Given the description of an element on the screen output the (x, y) to click on. 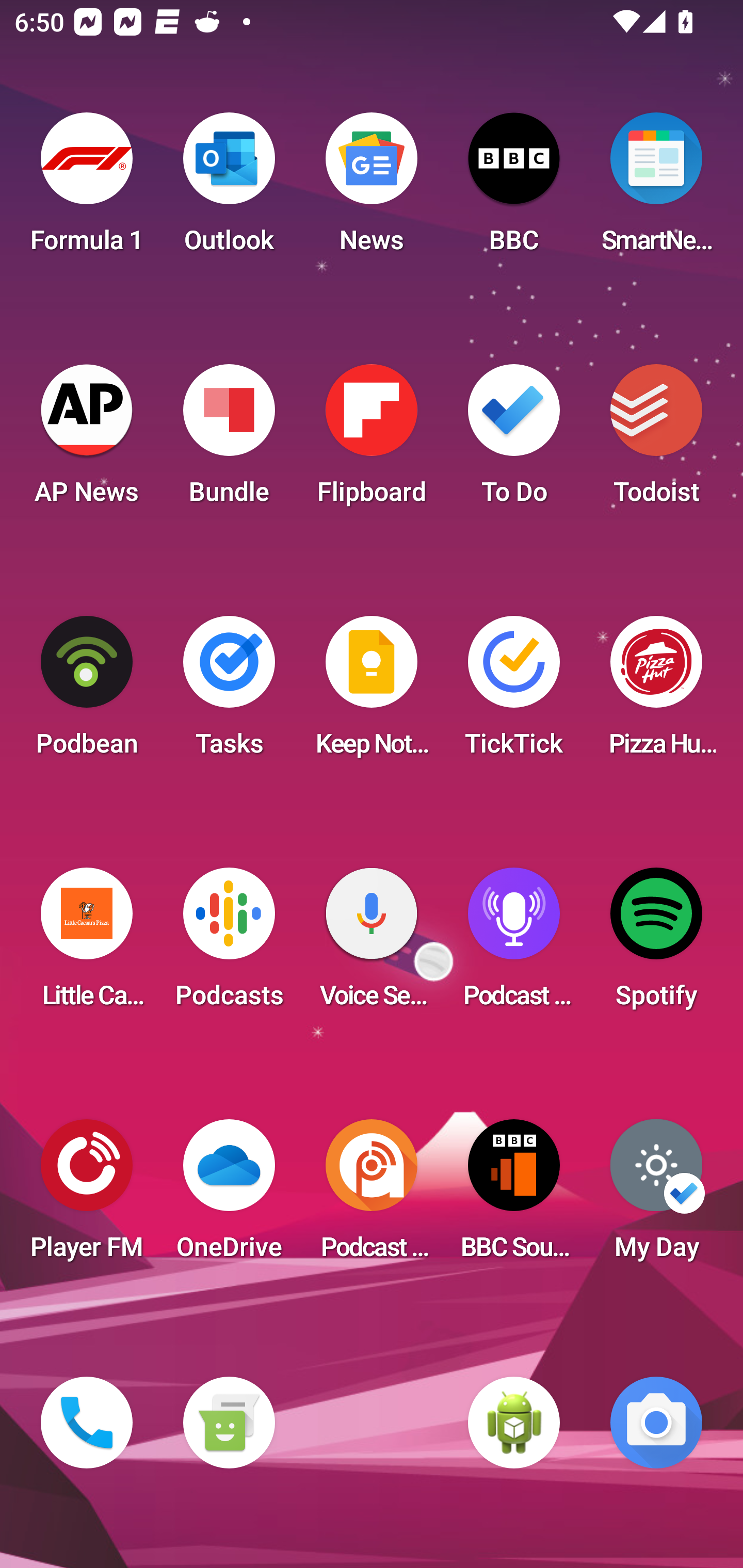
Formula 1 (86, 188)
Outlook (228, 188)
News (371, 188)
BBC (513, 188)
SmartNews (656, 188)
AP News (86, 440)
Bundle (228, 440)
Flipboard (371, 440)
To Do (513, 440)
Todoist (656, 440)
Podbean (86, 692)
Tasks (228, 692)
Keep Notes (371, 692)
TickTick (513, 692)
Pizza Hut HK & Macau (656, 692)
Little Caesars Pizza (86, 943)
Podcasts (228, 943)
Voice Search (371, 943)
Podcast Player (513, 943)
Spotify (656, 943)
Player FM (86, 1195)
OneDrive (228, 1195)
Podcast Addict (371, 1195)
BBC Sounds (513, 1195)
My Day (656, 1195)
Phone (86, 1422)
Messaging (228, 1422)
WebView Browser Tester (513, 1422)
Camera (656, 1422)
